Given the description of an element on the screen output the (x, y) to click on. 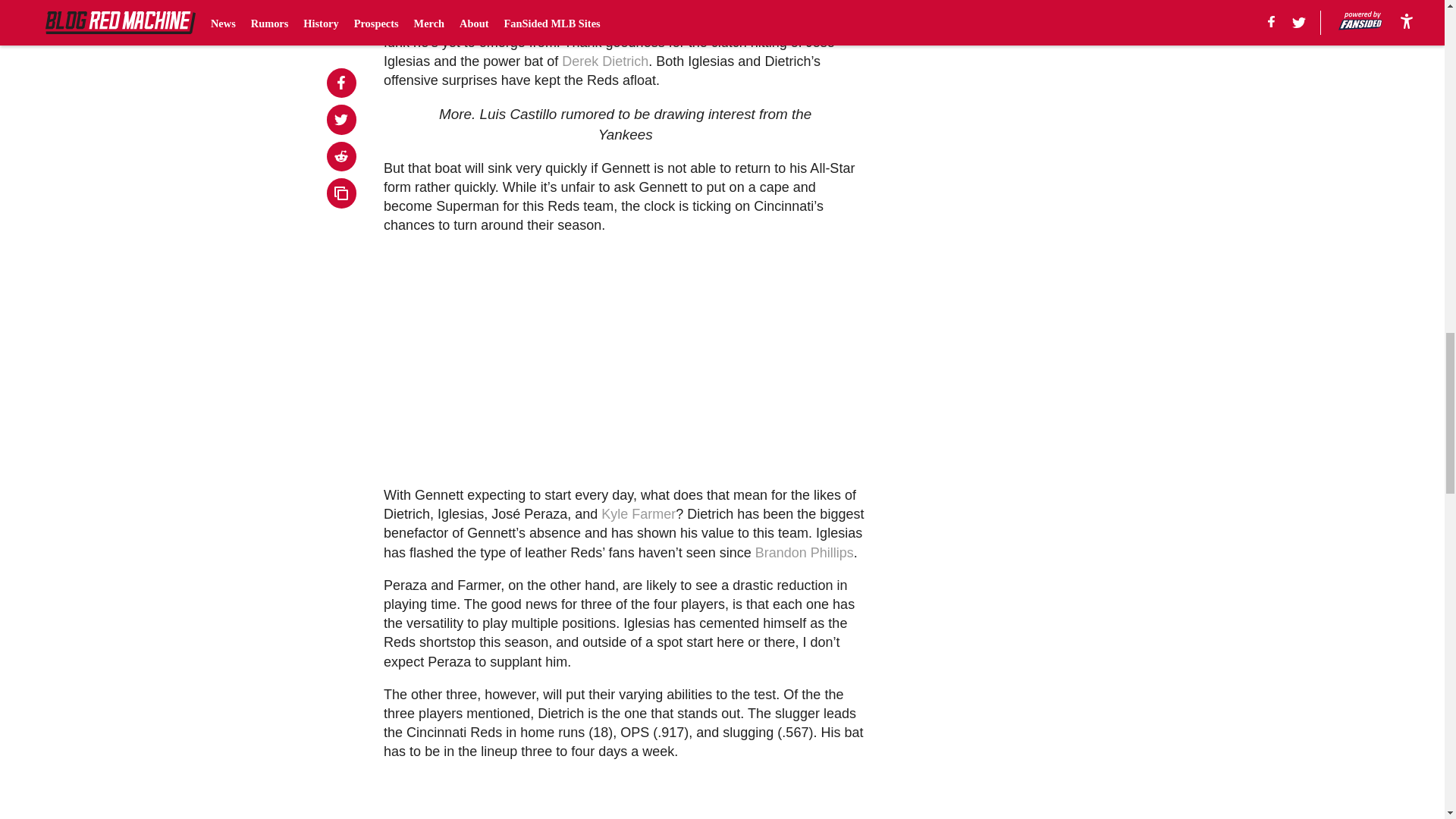
Kyle Farmer (638, 513)
Derek Dietrich (604, 61)
Brandon Phillips (804, 552)
